Given the description of an element on the screen output the (x, y) to click on. 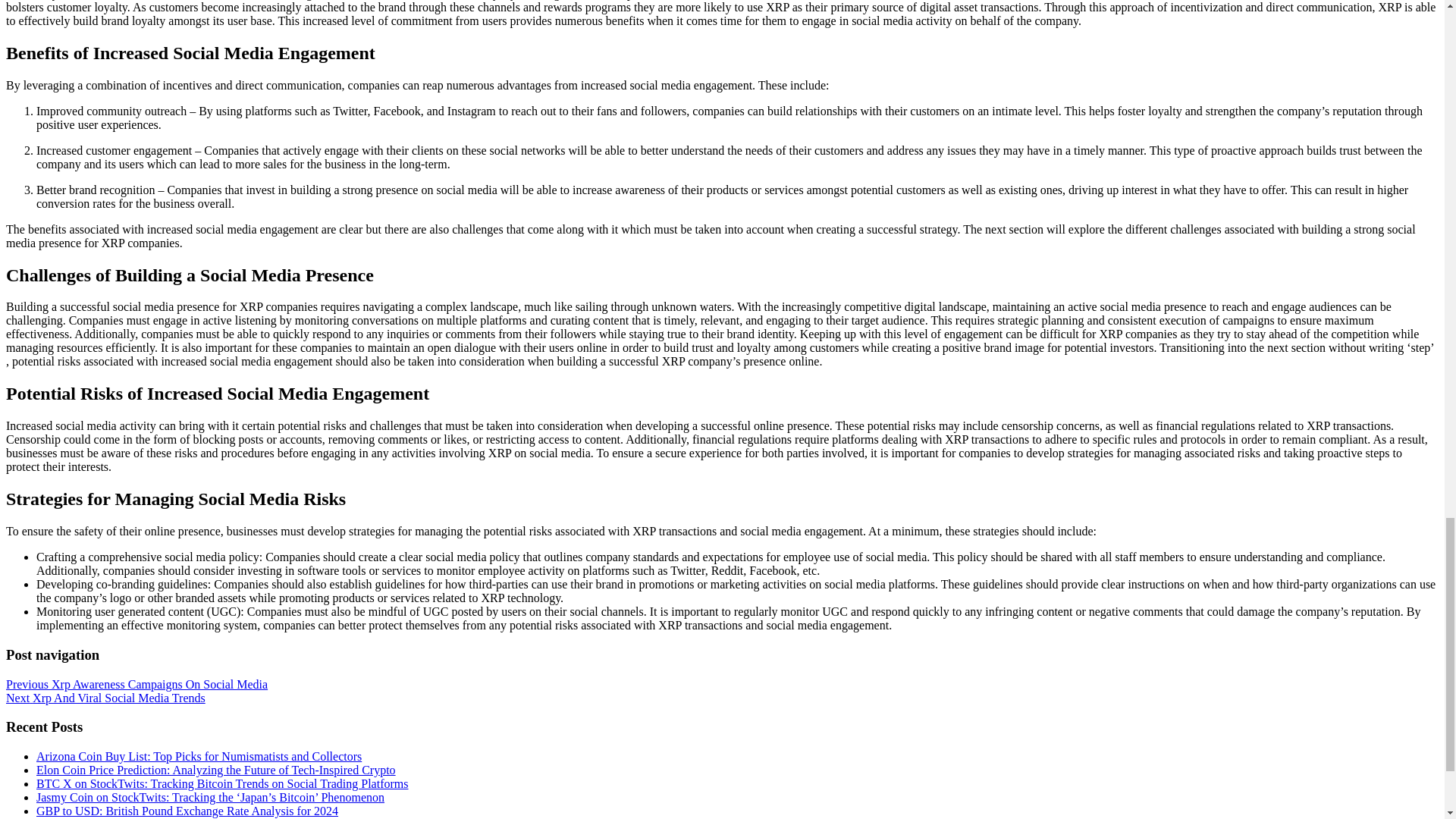
Previous Xrp Awareness Campaigns On Social Media (136, 684)
Next Xrp And Viral Social Media Trends (105, 697)
GBP to USD: British Pound Exchange Rate Analysis for 2024 (186, 810)
